Given the description of an element on the screen output the (x, y) to click on. 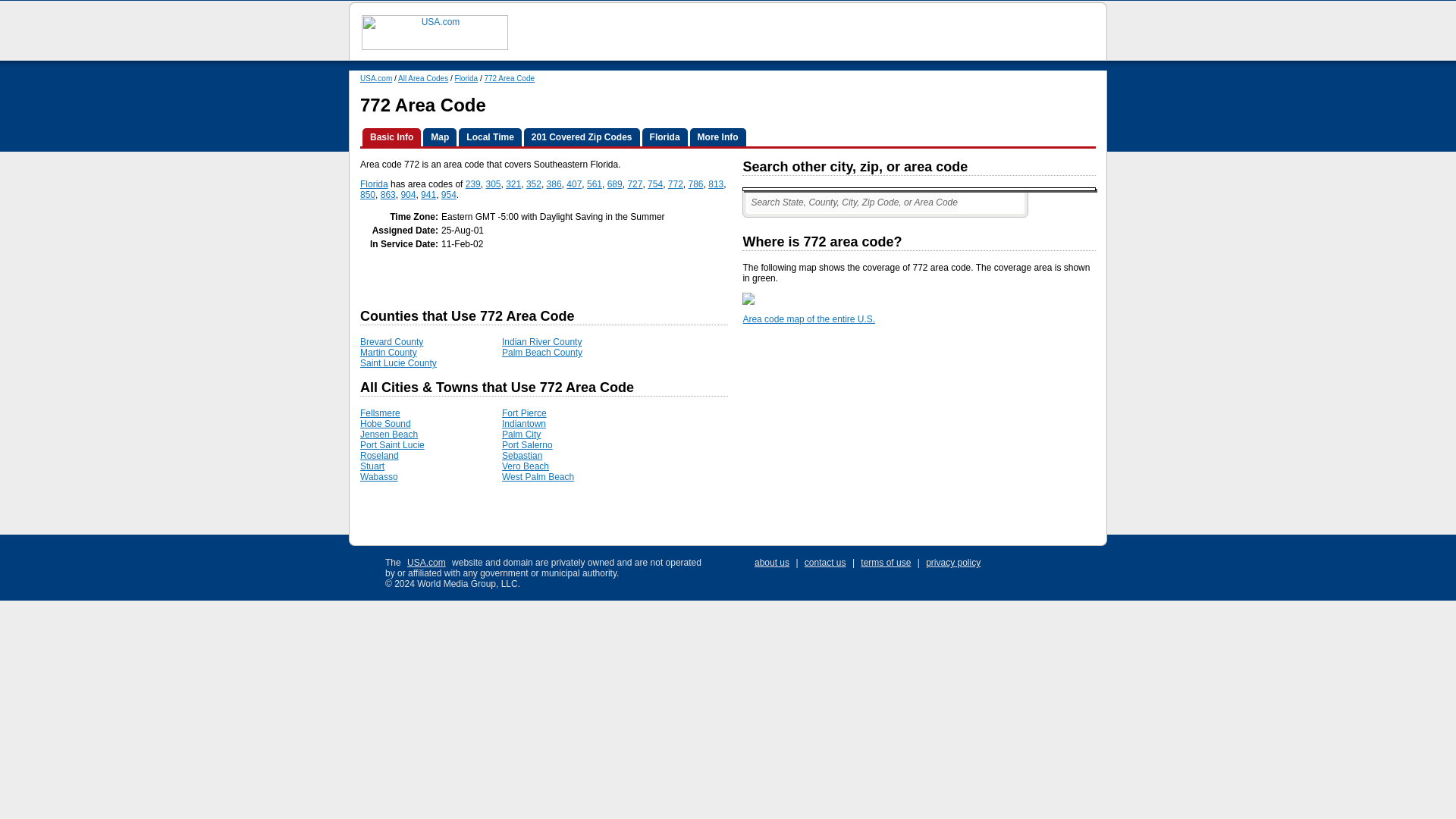
407 (573, 184)
Indiantown (524, 423)
754 (654, 184)
Hobe Sound (384, 423)
727 (634, 184)
All Area Codes (422, 78)
954 (449, 194)
USA.com (375, 78)
Jensen Beach (388, 434)
786 (695, 184)
Palm Beach County (542, 352)
More Info (717, 136)
561 (594, 184)
863 (388, 194)
904 (407, 194)
